Given the description of an element on the screen output the (x, y) to click on. 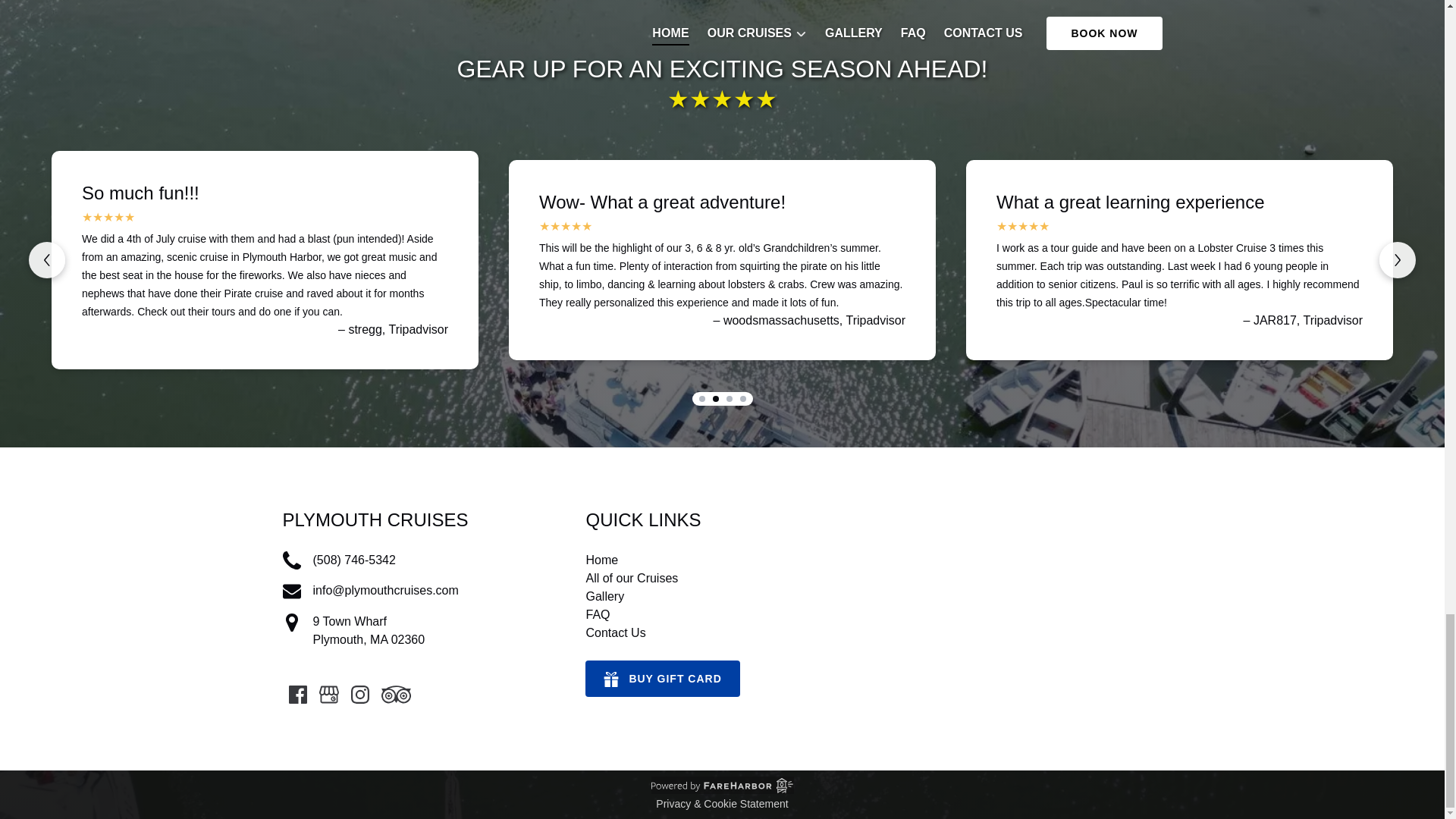
Envelope (290, 591)
Map Marker (290, 622)
Phone (290, 560)
